Given the description of an element on the screen output the (x, y) to click on. 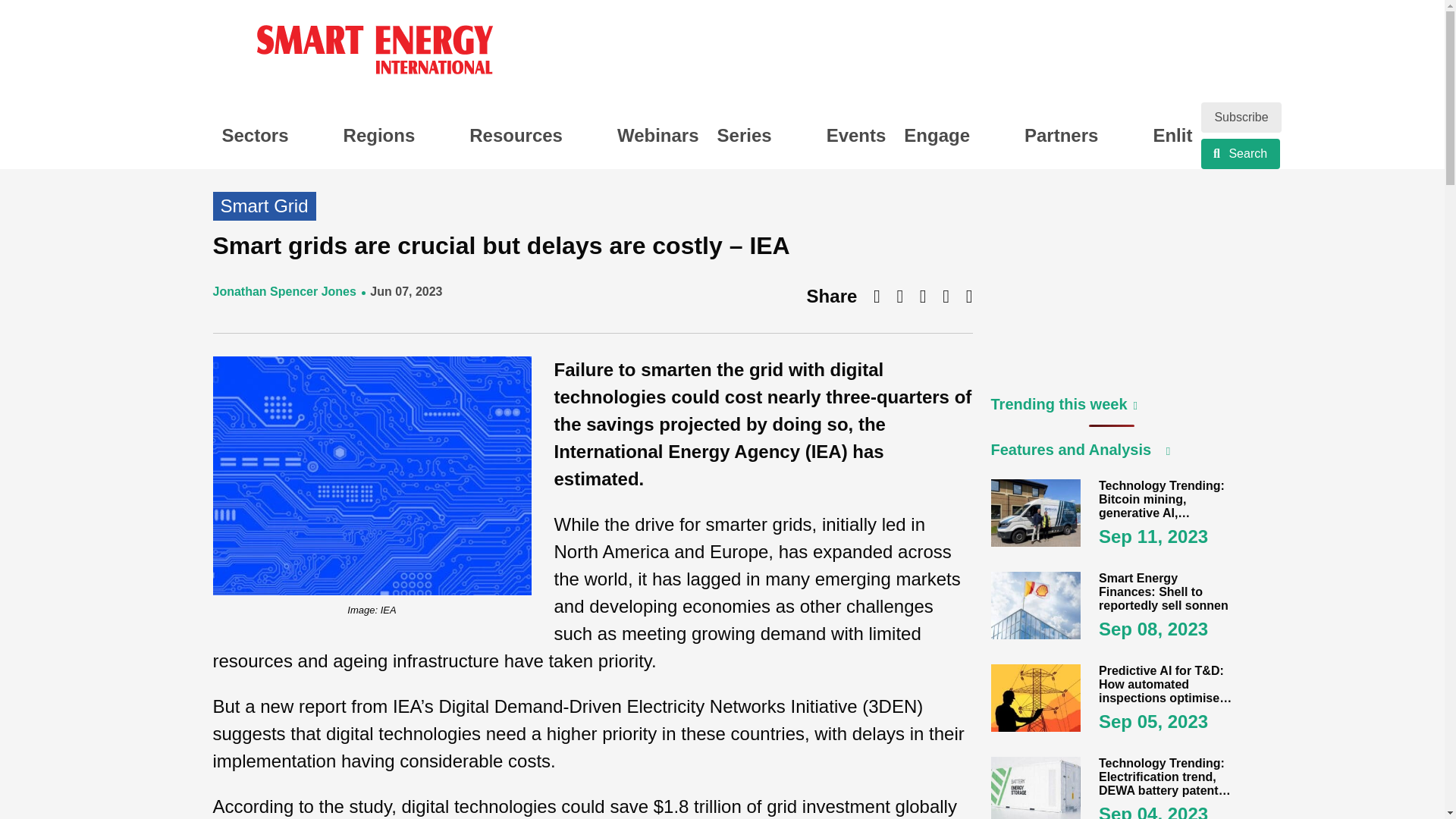
Sectors (272, 135)
Regions (397, 135)
Resources (534, 135)
Smart Energy International (373, 52)
